Given the description of an element on the screen output the (x, y) to click on. 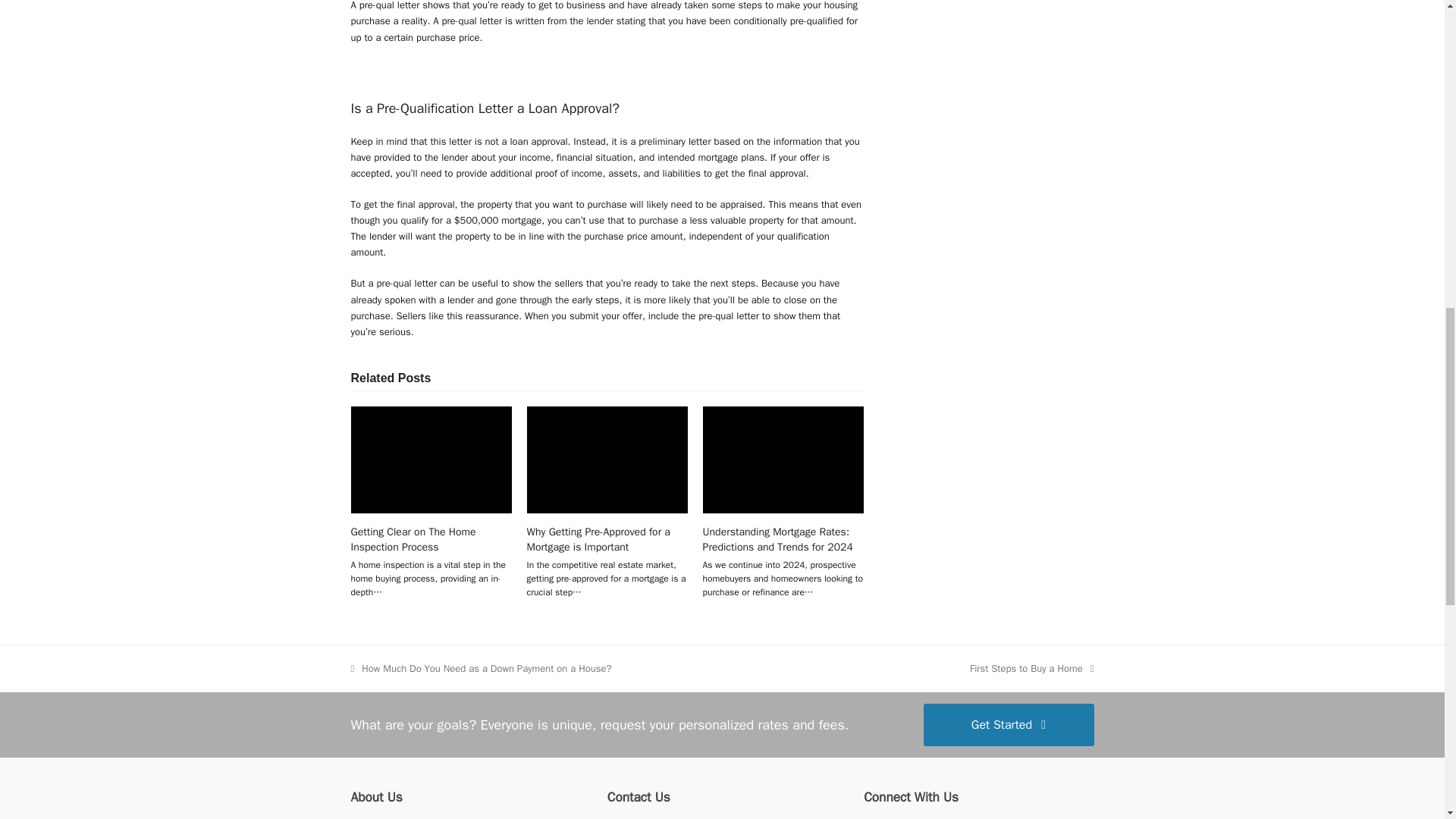
Getting Clear on The Home Inspection Process (413, 538)
Why Getting Pre-Approved for a Mortgage is Important (607, 459)
Why Getting Pre-Approved for a Mortgage is Important (598, 538)
Getting Clear on The Home Inspection Process (430, 459)
